Given the description of an element on the screen output the (x, y) to click on. 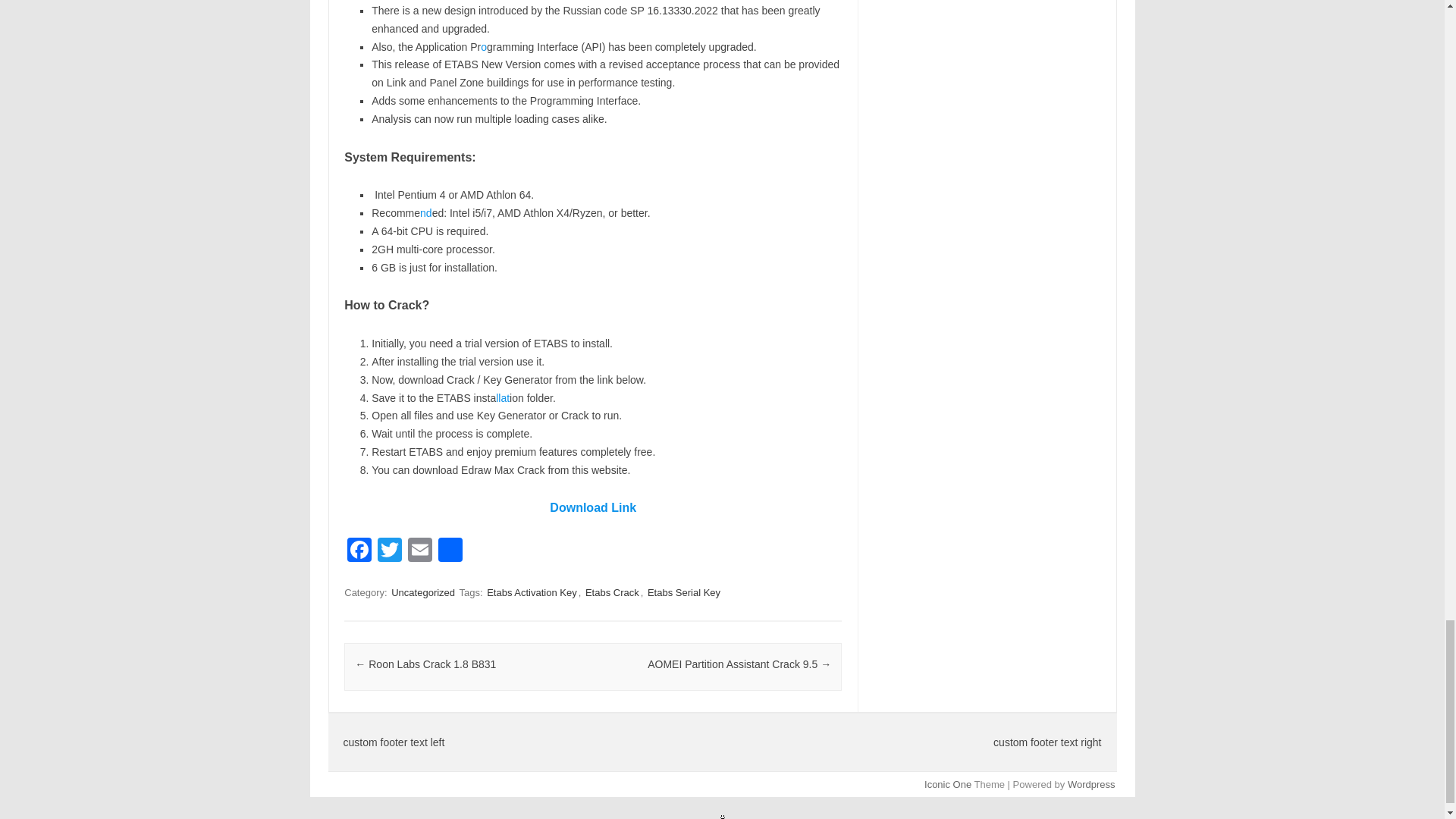
Twitter (389, 551)
Download Link (593, 507)
Etabs Crack (611, 592)
Uncategorized (423, 592)
nd (426, 213)
Twitter (389, 551)
Etabs Activation Key (531, 592)
Facebook (358, 551)
Email (419, 551)
Etabs Serial Key (684, 592)
